Given the description of an element on the screen output the (x, y) to click on. 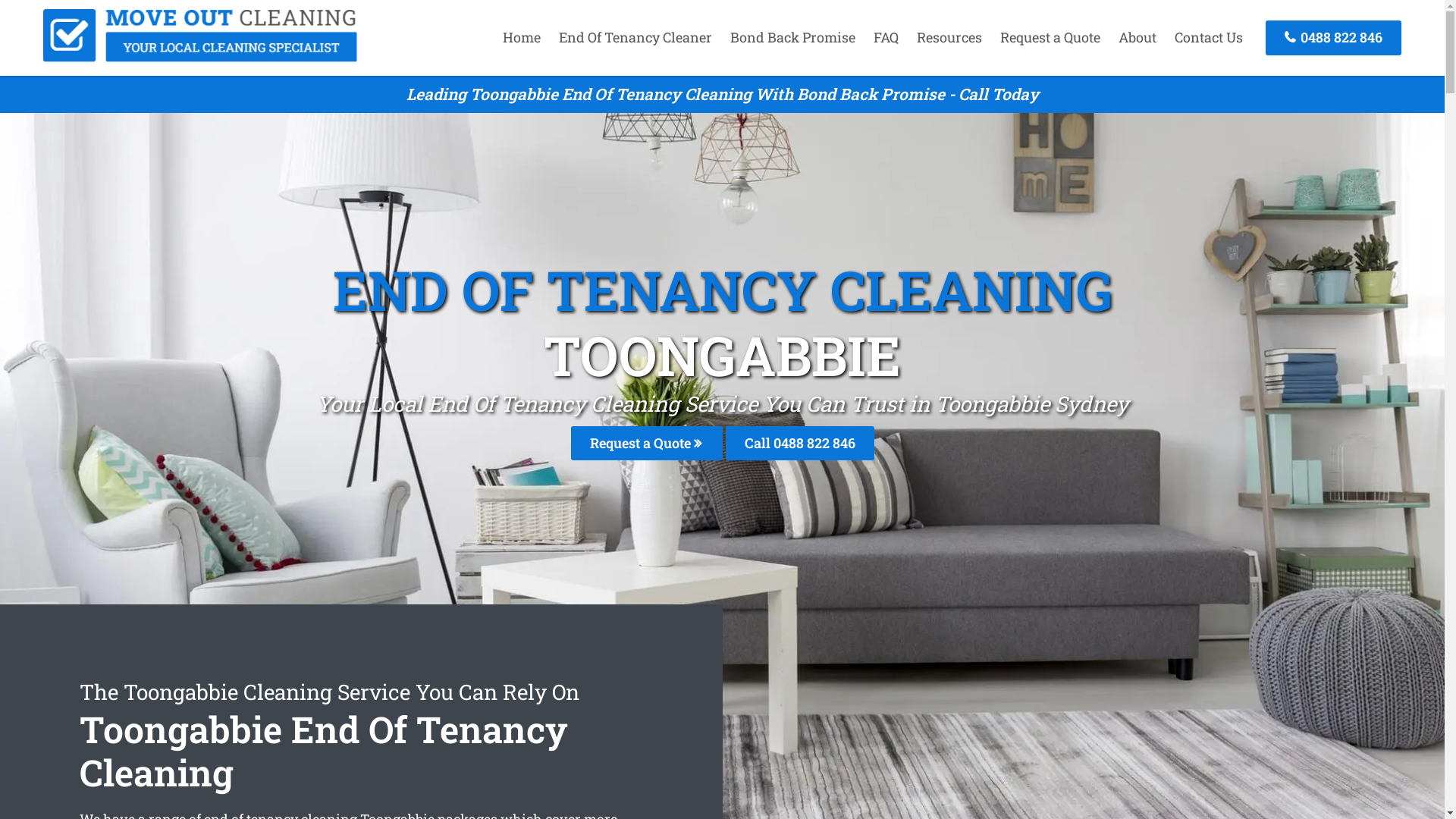
End Of Tenancy Cleaner Element type: text (635, 37)
About Element type: text (1137, 37)
Bond Back Promise Element type: text (792, 37)
FAQ Element type: text (886, 37)
Contact Us Element type: text (1208, 37)
Home Element type: text (521, 37)
Call 0488 822 846 Element type: text (798, 443)
Resources Element type: text (949, 37)
Request a Quote Element type: text (1049, 37)
End of Lease Cleaning Element type: hover (200, 56)
Request a Quote Element type: text (645, 443)
0488 822 846 Element type: text (1333, 37)
